Given the description of an element on the screen output the (x, y) to click on. 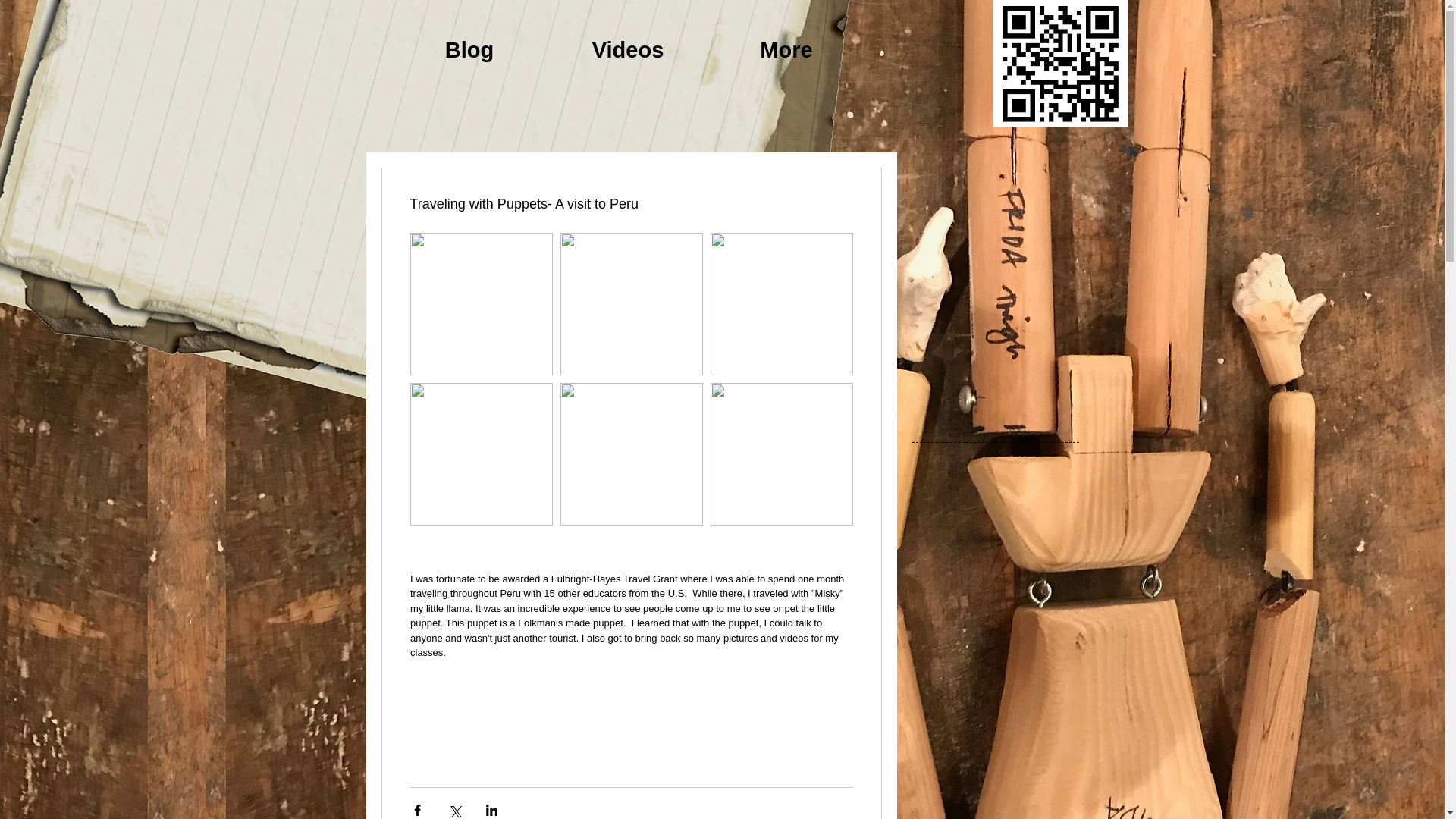
Blog (469, 46)
Videos (627, 46)
PuppetEd Links.png (1059, 63)
